Given the description of an element on the screen output the (x, y) to click on. 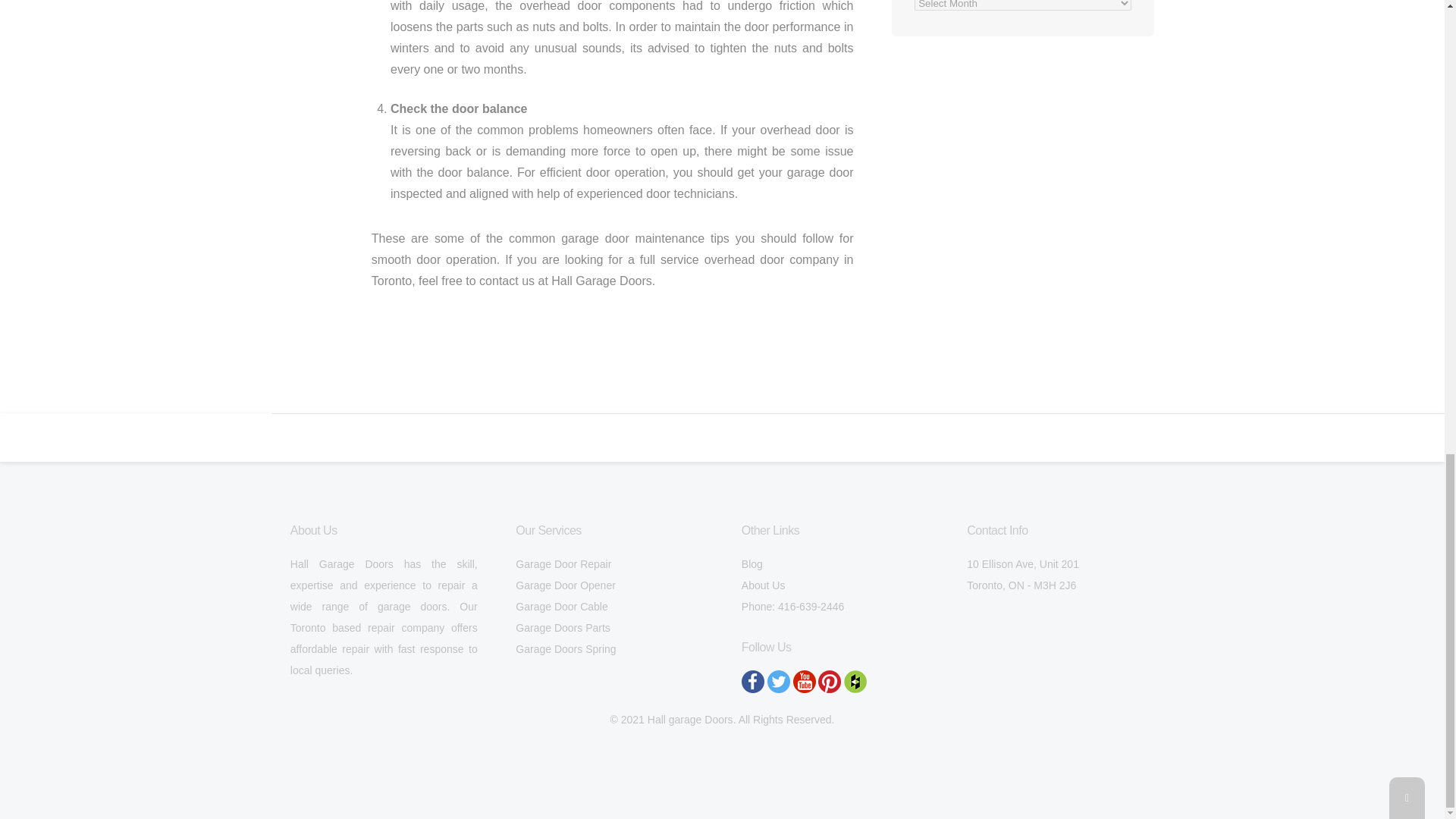
Follow us on houzz (855, 680)
Watch us on Youtube (804, 680)
Follow us on twitter (778, 681)
Like us on Facebook (752, 681)
Garage Door Repair (563, 563)
Follow us on Pinterest (829, 680)
